Given the description of an element on the screen output the (x, y) to click on. 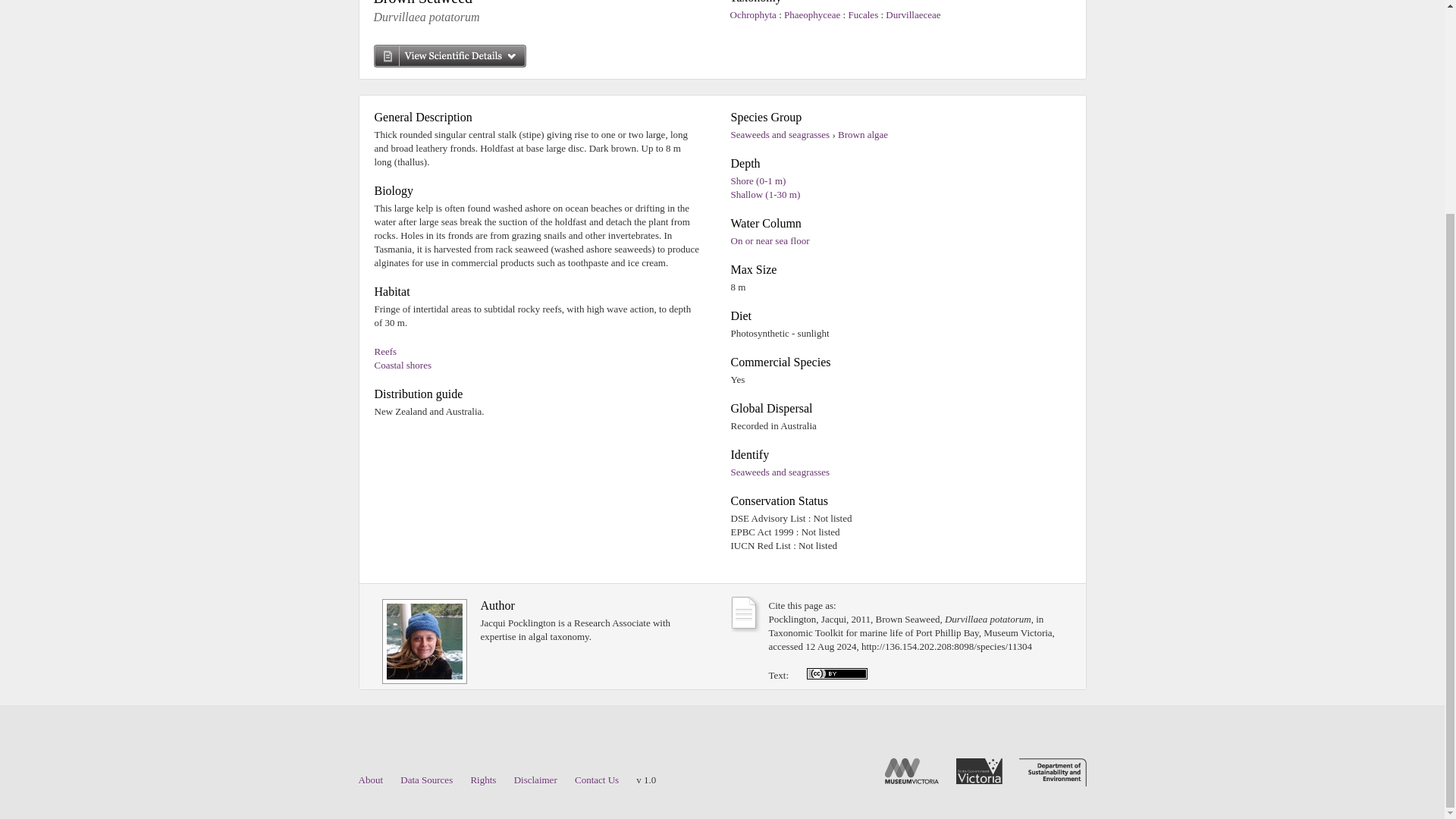
Seaweeds and seagrasses (779, 471)
Seaweeds and seagrasses (779, 134)
Reefs (385, 351)
Rights (483, 779)
On or near sea floor (769, 240)
Fucales (863, 14)
Contact Us (596, 779)
About (370, 779)
Data Sources (426, 779)
Coastal shores (402, 365)
